Given the description of an element on the screen output the (x, y) to click on. 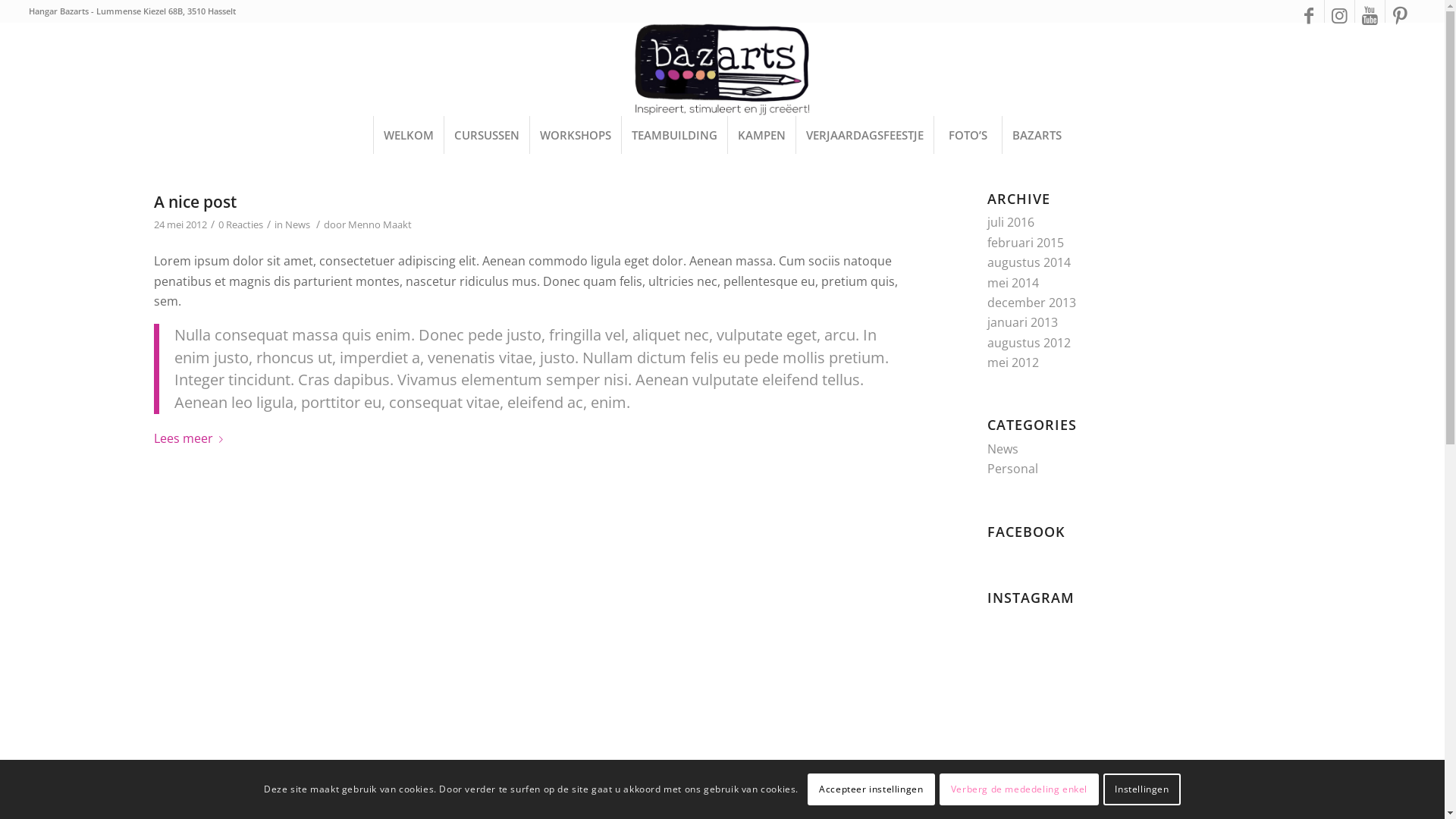
Youtube Element type: hover (1369, 15)
VERJAARDAGSFEESTJE Element type: text (864, 134)
Instagram afbeelding Element type: hover (1241, 660)
Wristbands. So great #instalove #wristporn Element type: hover (1241, 764)
Menno Maakt Element type: text (379, 224)
WORKSHOPS Element type: text (575, 134)
BAZARTS Element type: text (1036, 134)
augustus 2012 Element type: text (1028, 342)
News Element type: text (1002, 448)
WELKOM Element type: text (408, 134)
Personal Element type: text (1012, 468)
CURSUSSEN Element type: text (486, 134)
december 2013 Element type: text (1031, 302)
augustus 2014 Element type: text (1028, 262)
Accepteer instellingen Element type: text (871, 789)
On the beach #livingthedream #beach Element type: hover (1138, 765)
februari 2015 Element type: text (1025, 242)
juli 2016 Element type: text (1010, 221)
Instellingen Element type: text (1141, 789)
Lees meer Element type: text (190, 438)
Bff :) #loveher #bff Element type: hover (1036, 764)
mei 2014 Element type: text (1012, 282)
News Element type: text (297, 224)
0 Reacties Element type: text (240, 224)
A nice post Element type: text (194, 201)
Vacation with style #bff #loveher #friends Element type: hover (1138, 661)
Verberg de mededeling enkel Element type: text (1019, 789)
januari 2013 Element type: text (1022, 321)
Facebook Element type: hover (1309, 15)
Instagram Element type: hover (1339, 15)
Pinterest Element type: hover (1400, 15)
KAMPEN Element type: text (761, 134)
mei 2012 Element type: text (1012, 362)
TEAMBUILDING Element type: text (674, 134)
